Given the description of an element on the screen output the (x, y) to click on. 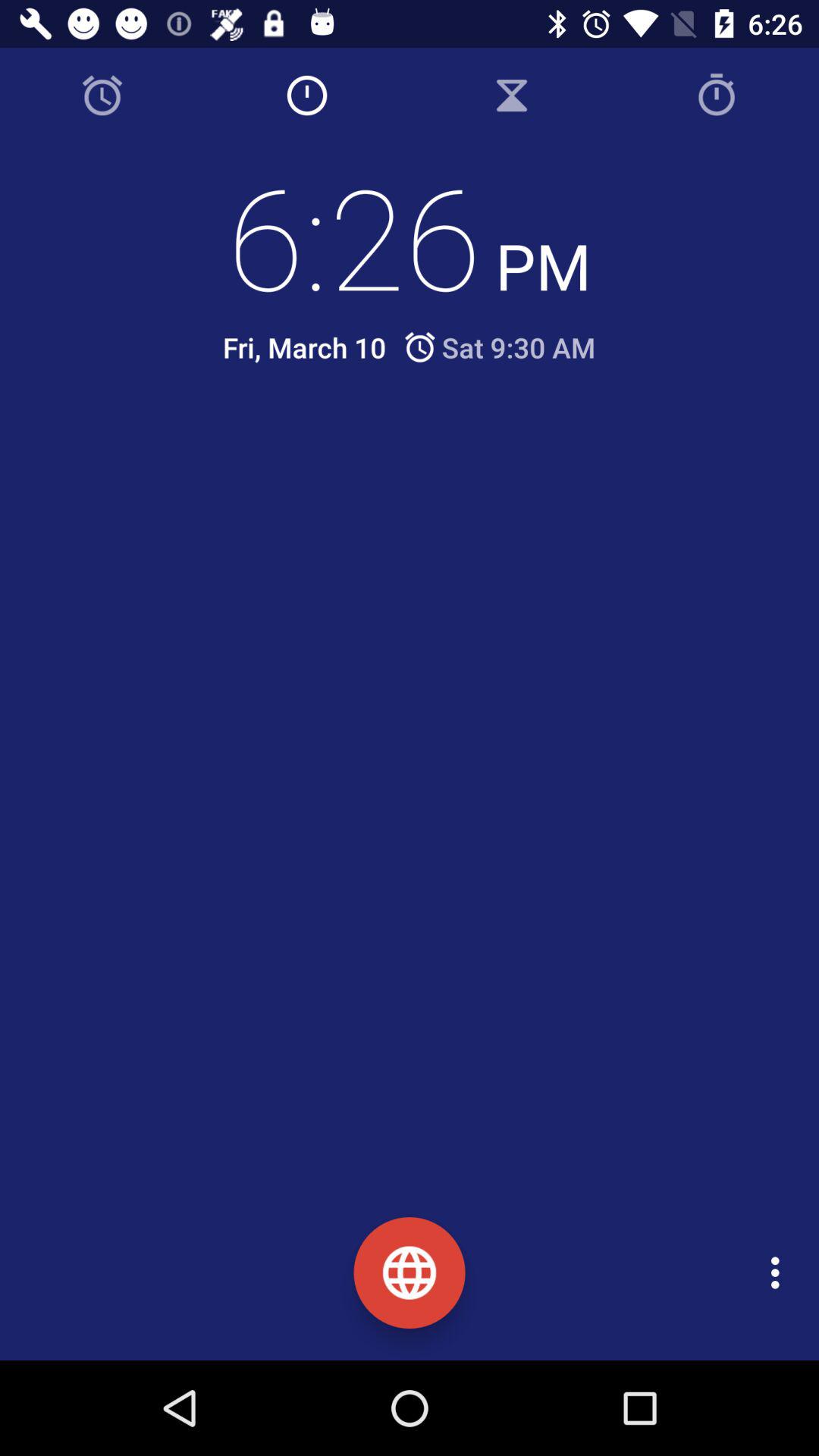
click the fri, march 10 icon (304, 347)
